Given the description of an element on the screen output the (x, y) to click on. 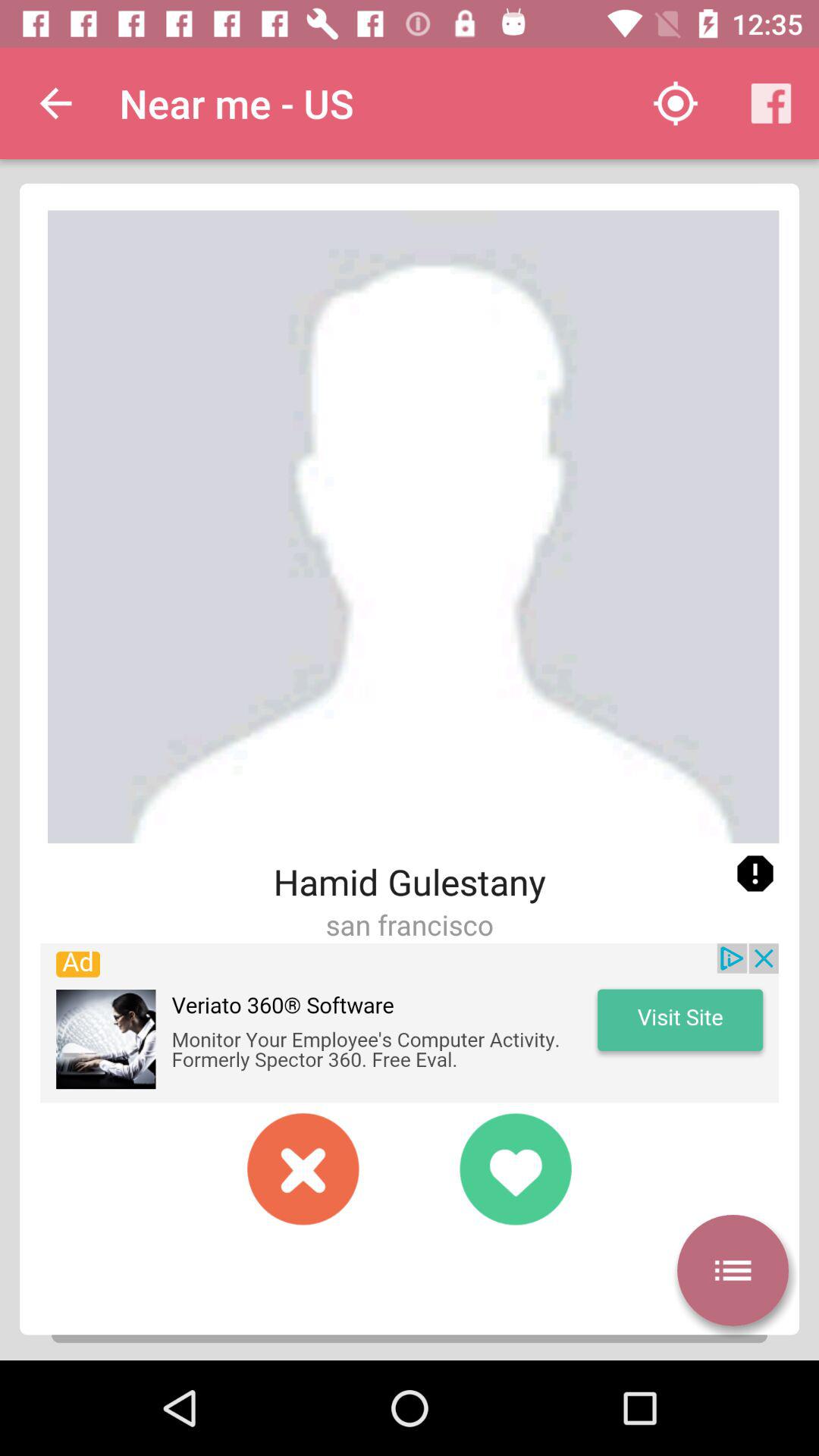
deslike (303, 1169)
